Given the description of an element on the screen output the (x, y) to click on. 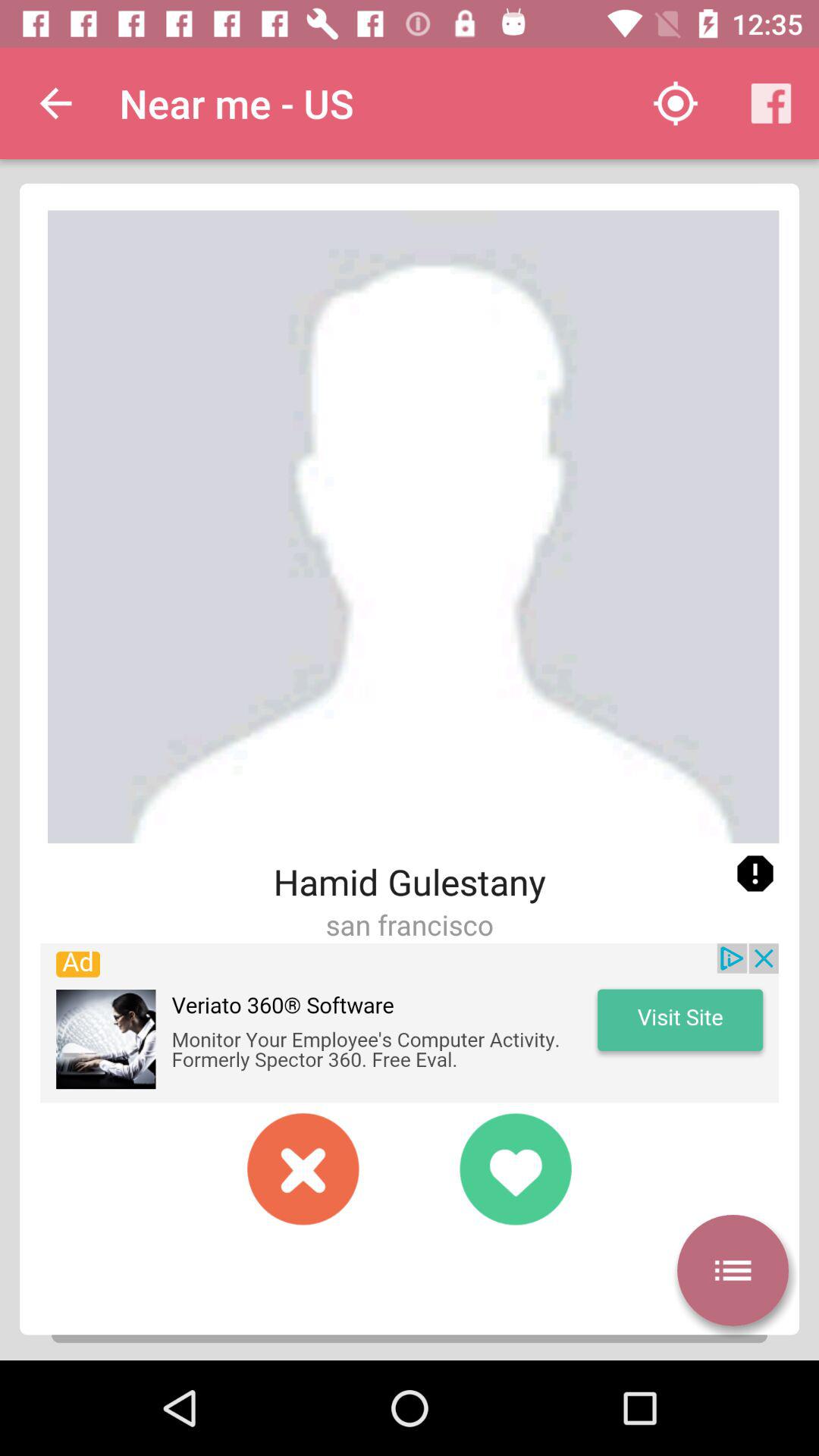
deslike (303, 1169)
